Given the description of an element on the screen output the (x, y) to click on. 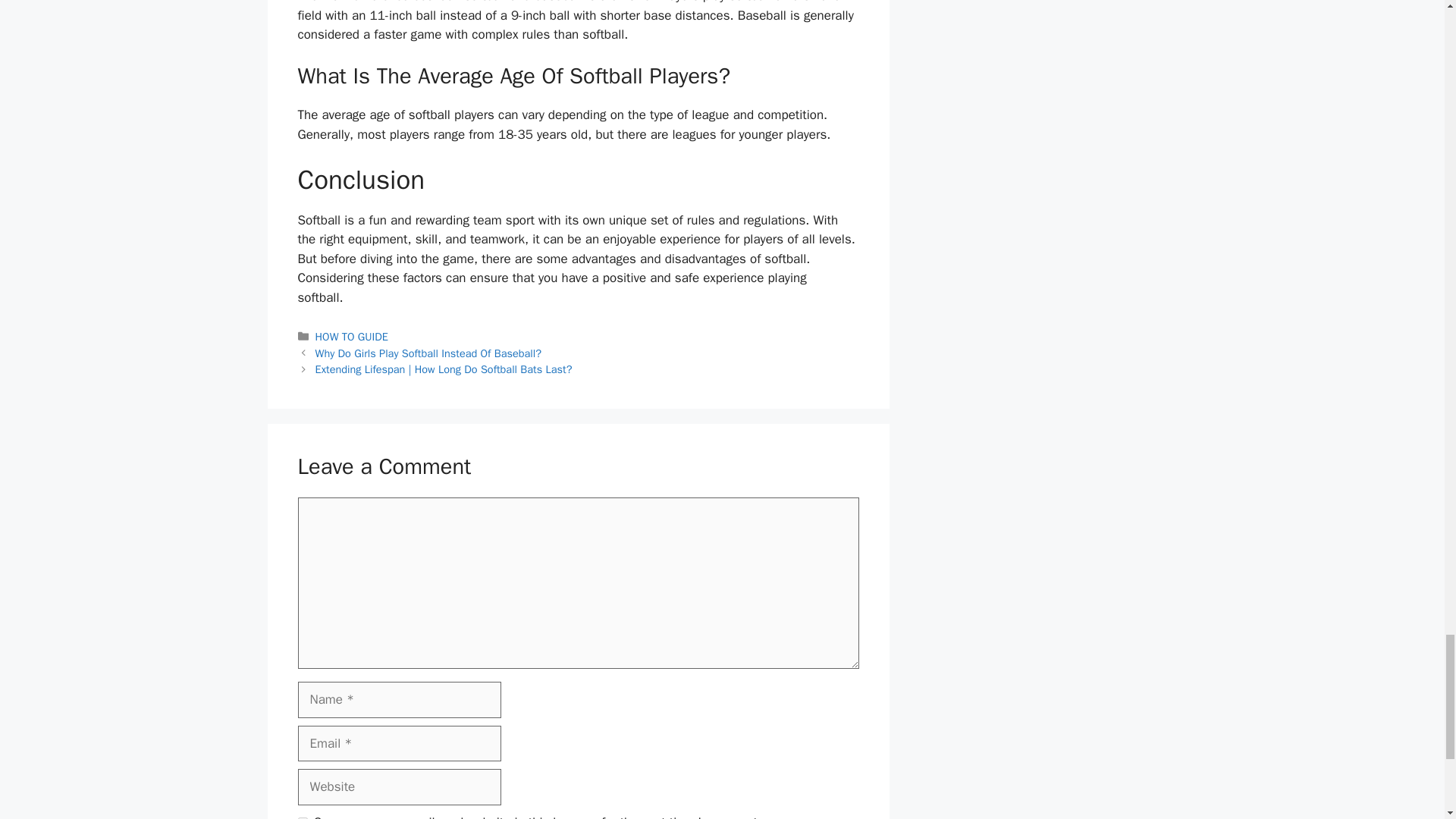
Why Do Girls Play Softball Instead Of Baseball? (428, 353)
HOW TO GUIDE (351, 336)
